Given the description of an element on the screen output the (x, y) to click on. 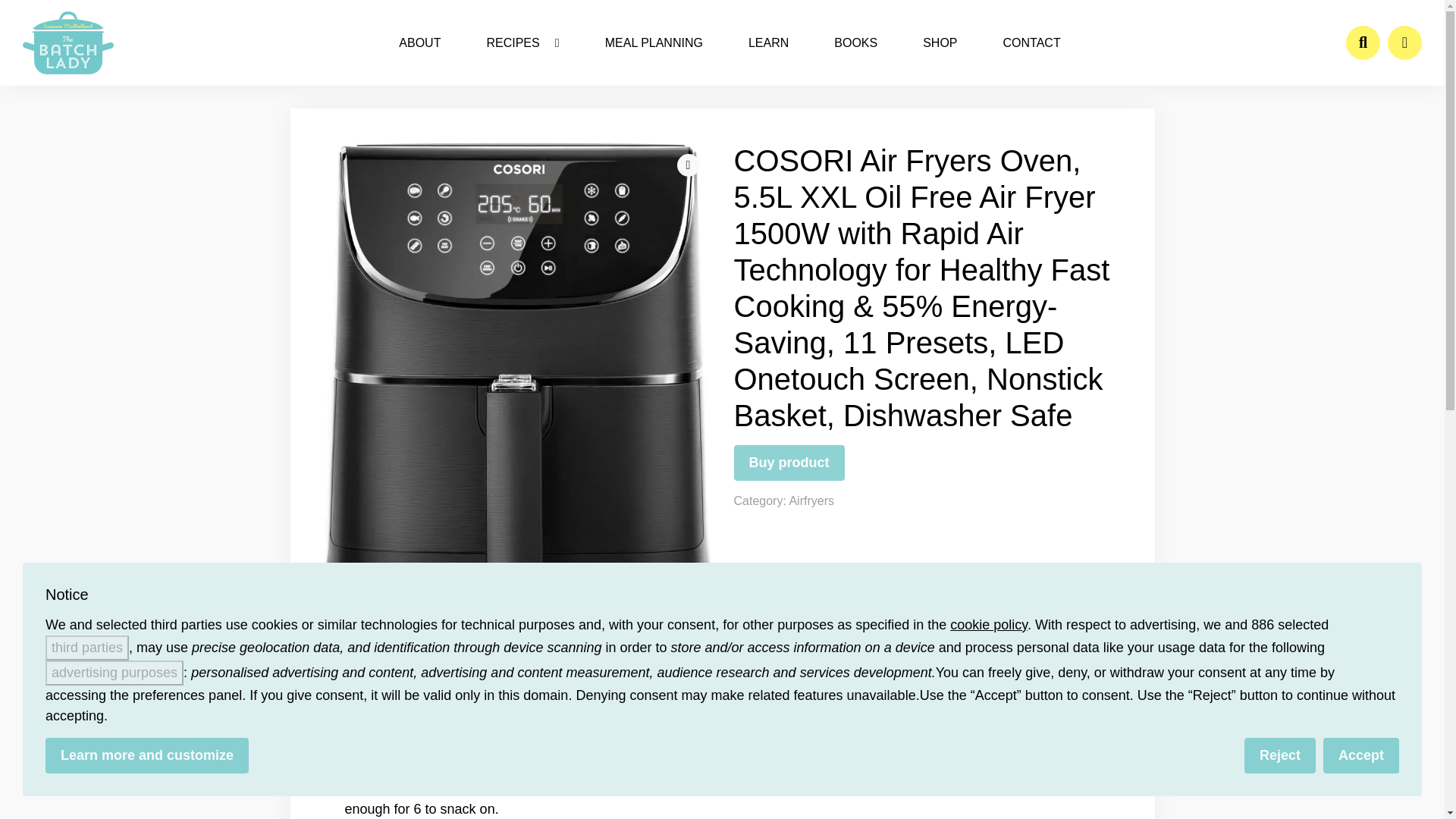
ABOUT (419, 42)
The Batch Lady (68, 42)
RECIPES (521, 42)
